Given the description of an element on the screen output the (x, y) to click on. 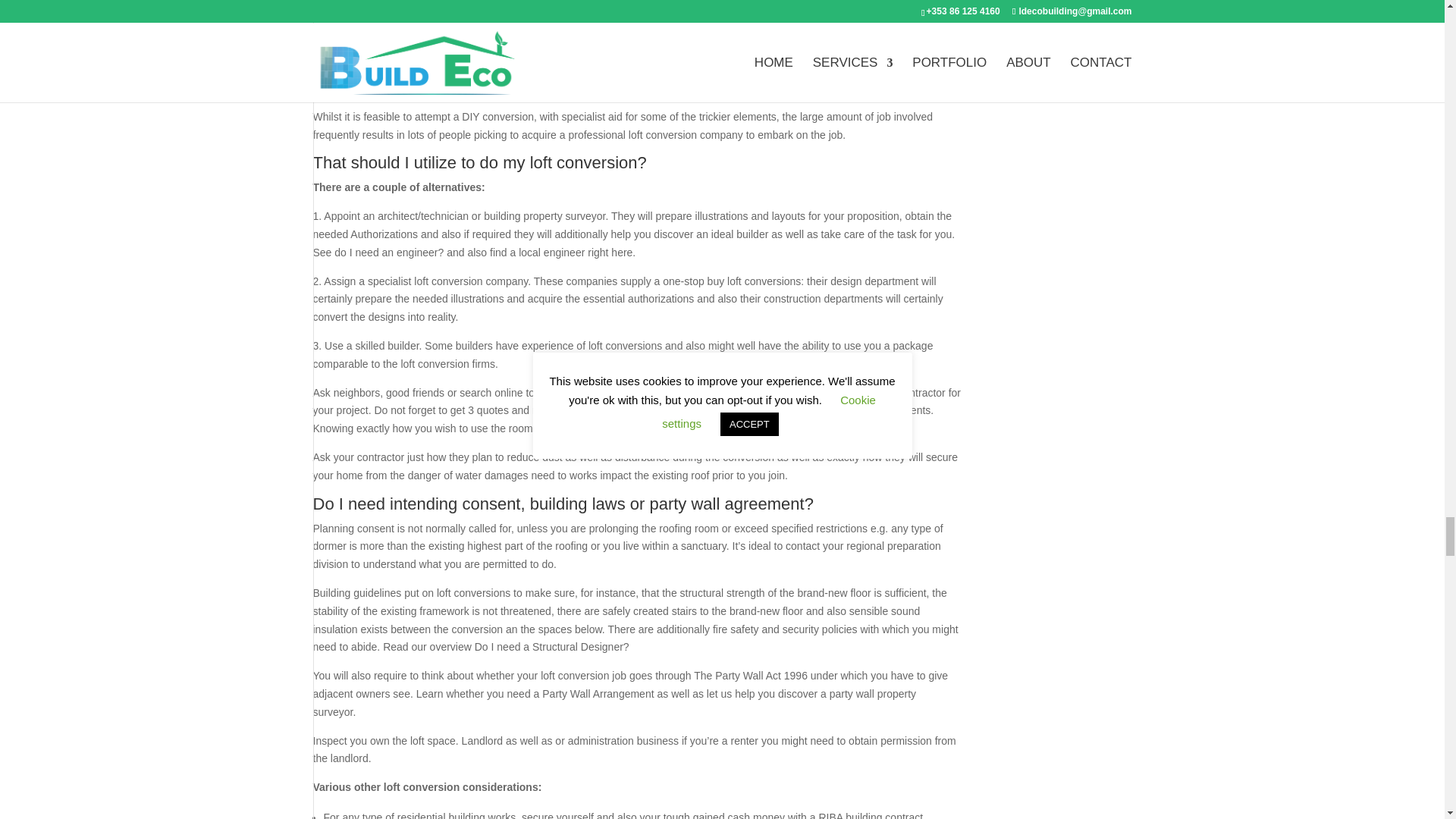
loft conversions (706, 2)
